Given the description of an element on the screen output the (x, y) to click on. 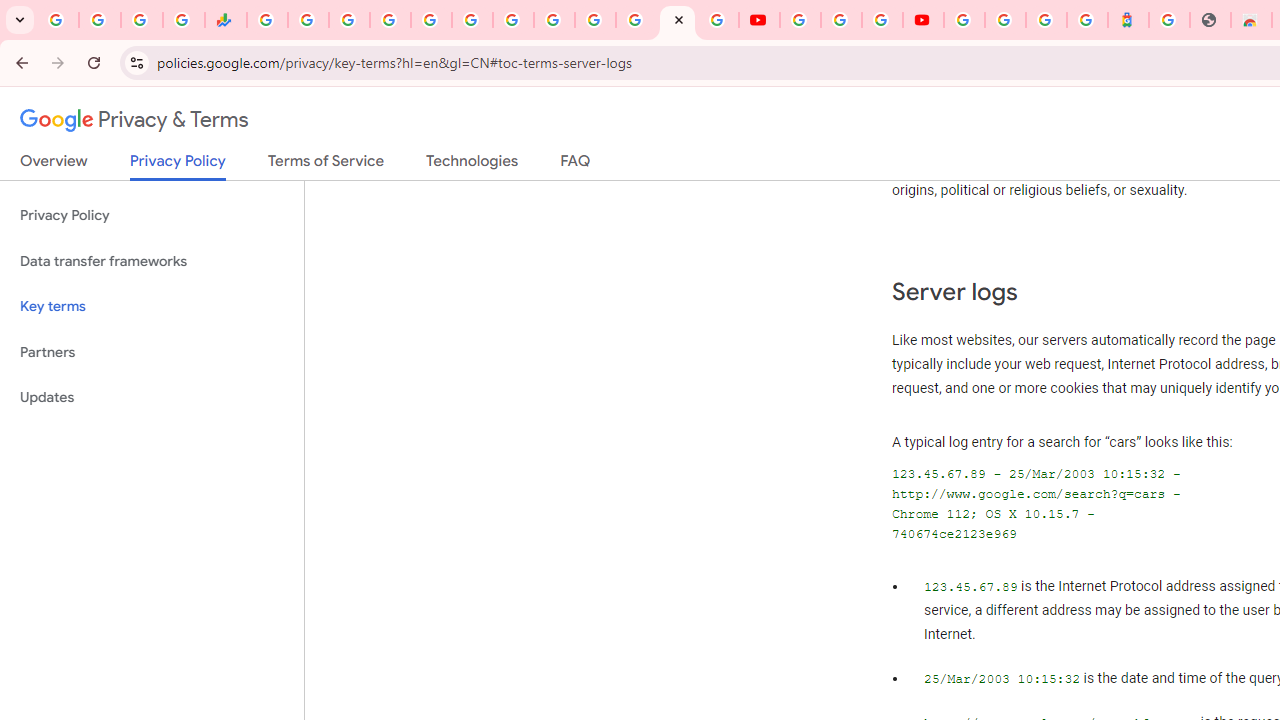
Create your Google Account (881, 20)
Android TV Policies and Guidelines - Transparency Center (512, 20)
YouTube (758, 20)
Content Creator Programs & Opportunities - YouTube Creators (923, 20)
